Given the description of an element on the screen output the (x, y) to click on. 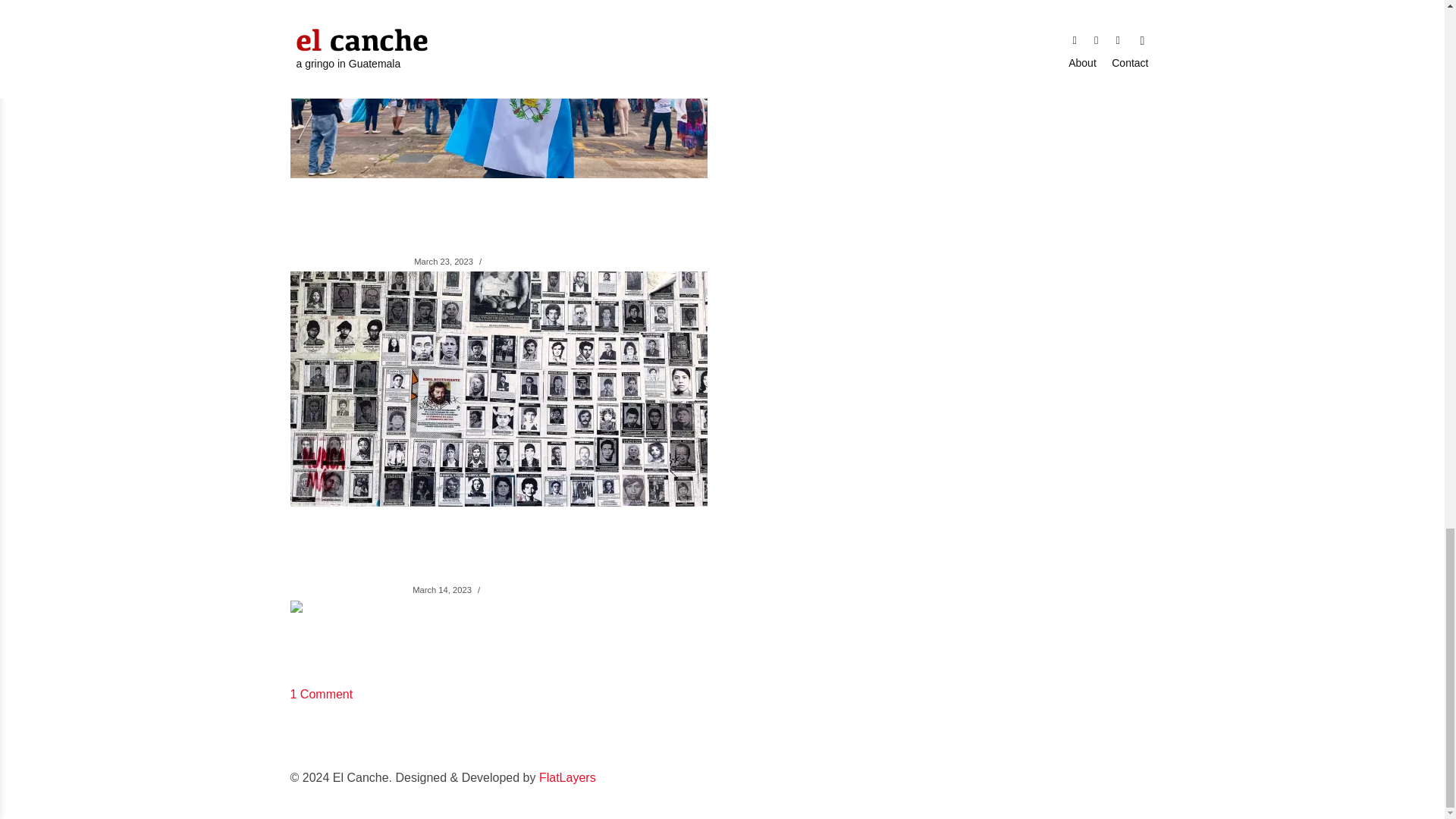
Guatemala in Crisis: the Death of Justice (466, 216)
